Given the description of an element on the screen output the (x, y) to click on. 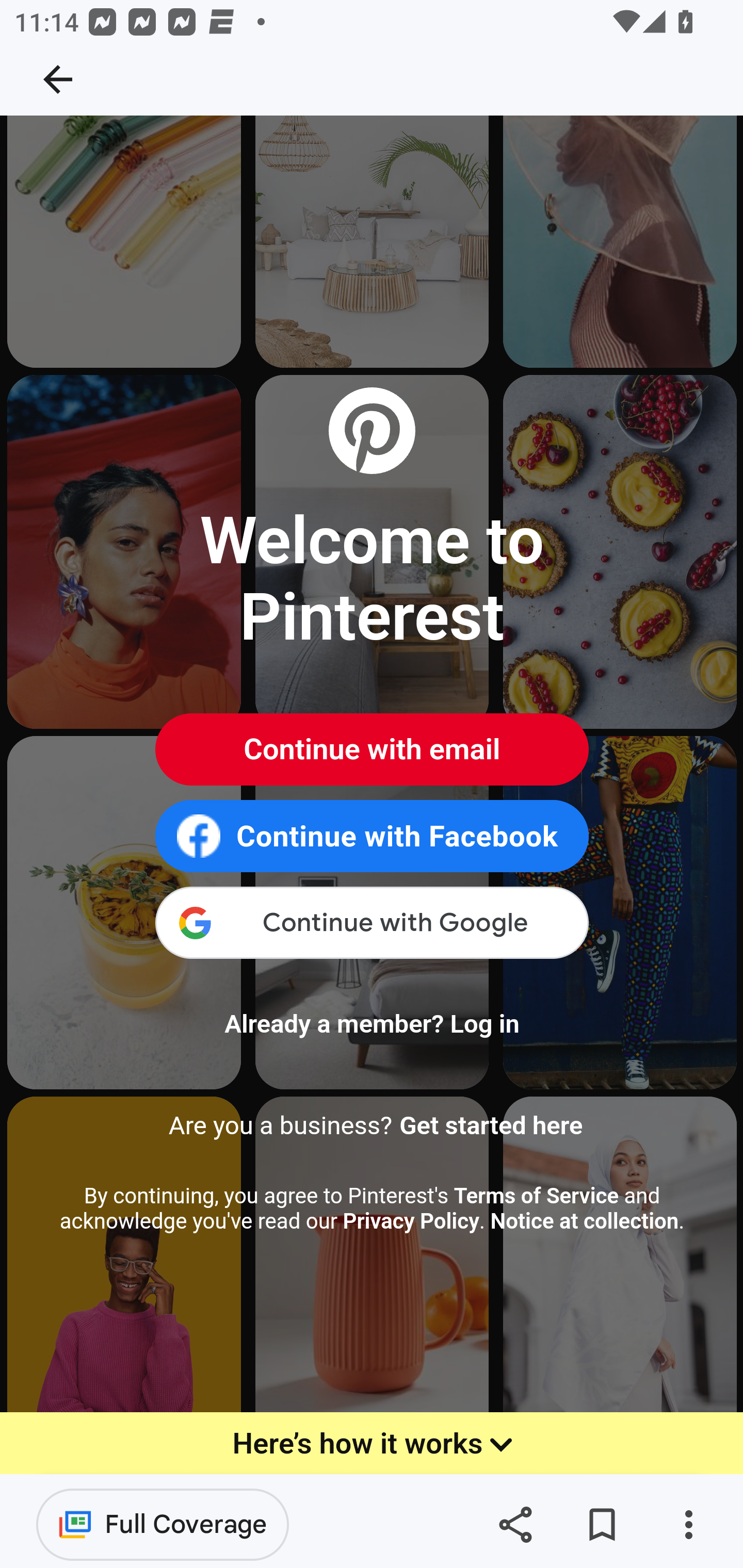
Navigate up (57, 79)
Continue with email (371, 750)
Continue with Facebook (371, 836)
GOOGLE_SIGNIN_BUTTON (371, 926)
Already a member? Log in (371, 1024)
Get started here (490, 1125)
Here’s how it works arrow down icon (371, 1444)
Share (514, 1524)
Save for later (601, 1524)
More options (688, 1524)
Full Coverage (162, 1524)
